Given the description of an element on the screen output the (x, y) to click on. 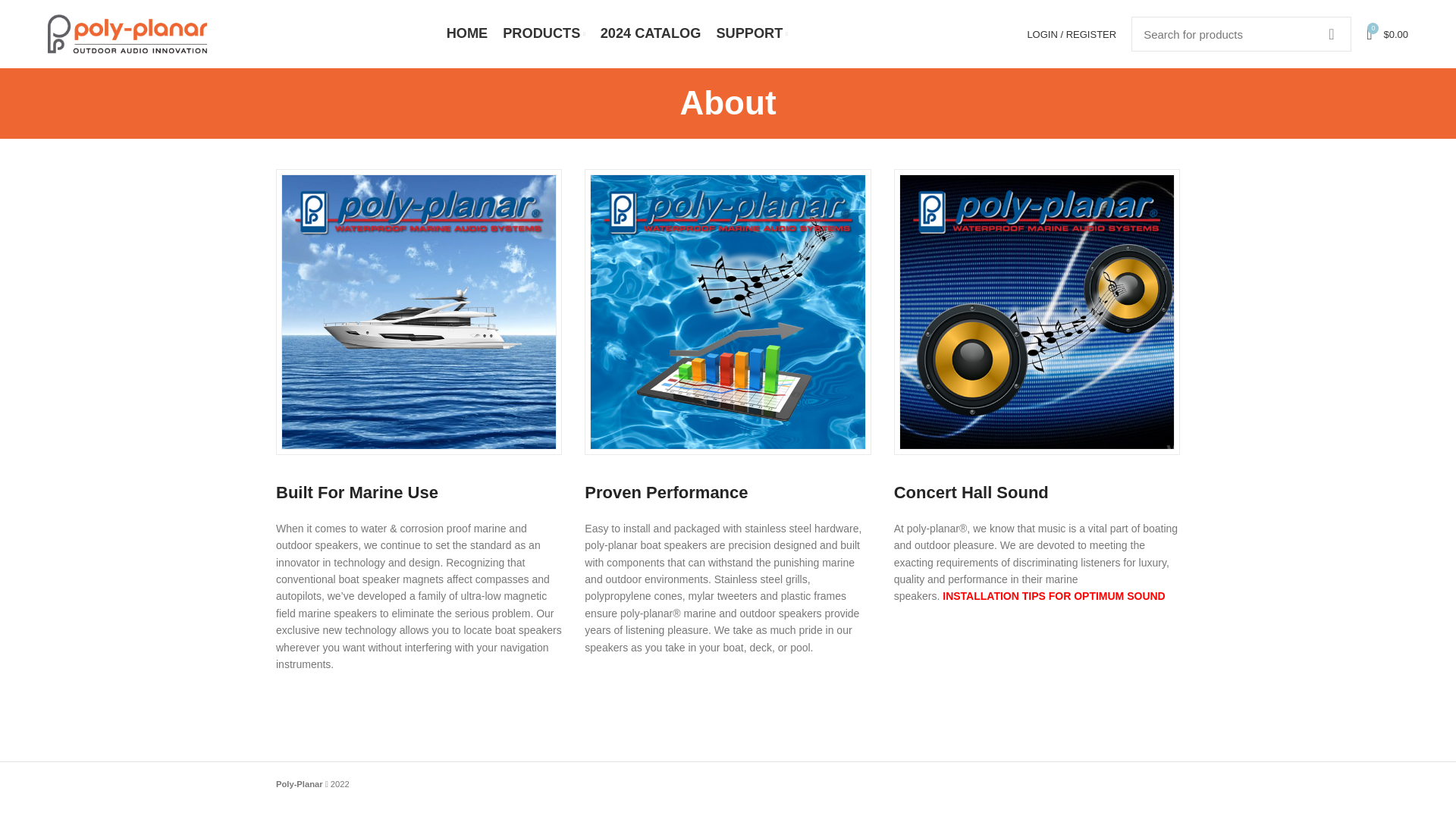
PRODUCTS (543, 33)
Shopping cart (1386, 33)
HOME (467, 33)
Charleston Web Design (396, 783)
about2 (1036, 311)
2024 CATALOG (650, 33)
My account (1071, 33)
SEARCH (1330, 33)
SUPPORT (750, 33)
about3 (726, 311)
